Given the description of an element on the screen output the (x, y) to click on. 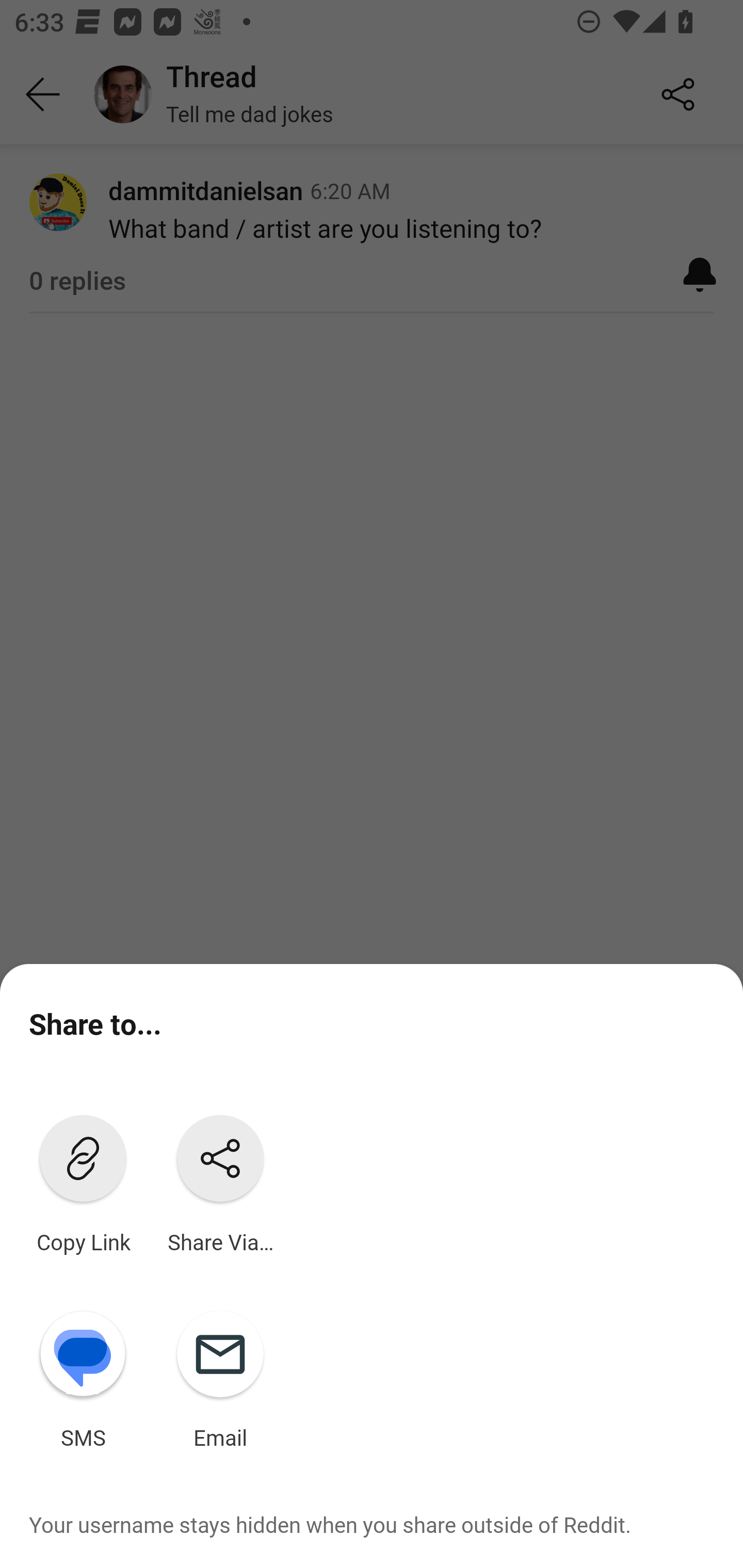
Copy Link (82, 1179)
Share Via… (220, 1179)
SMS (82, 1375)
Email (220, 1375)
Message Reply (324, 1513)
